Given the description of an element on the screen output the (x, y) to click on. 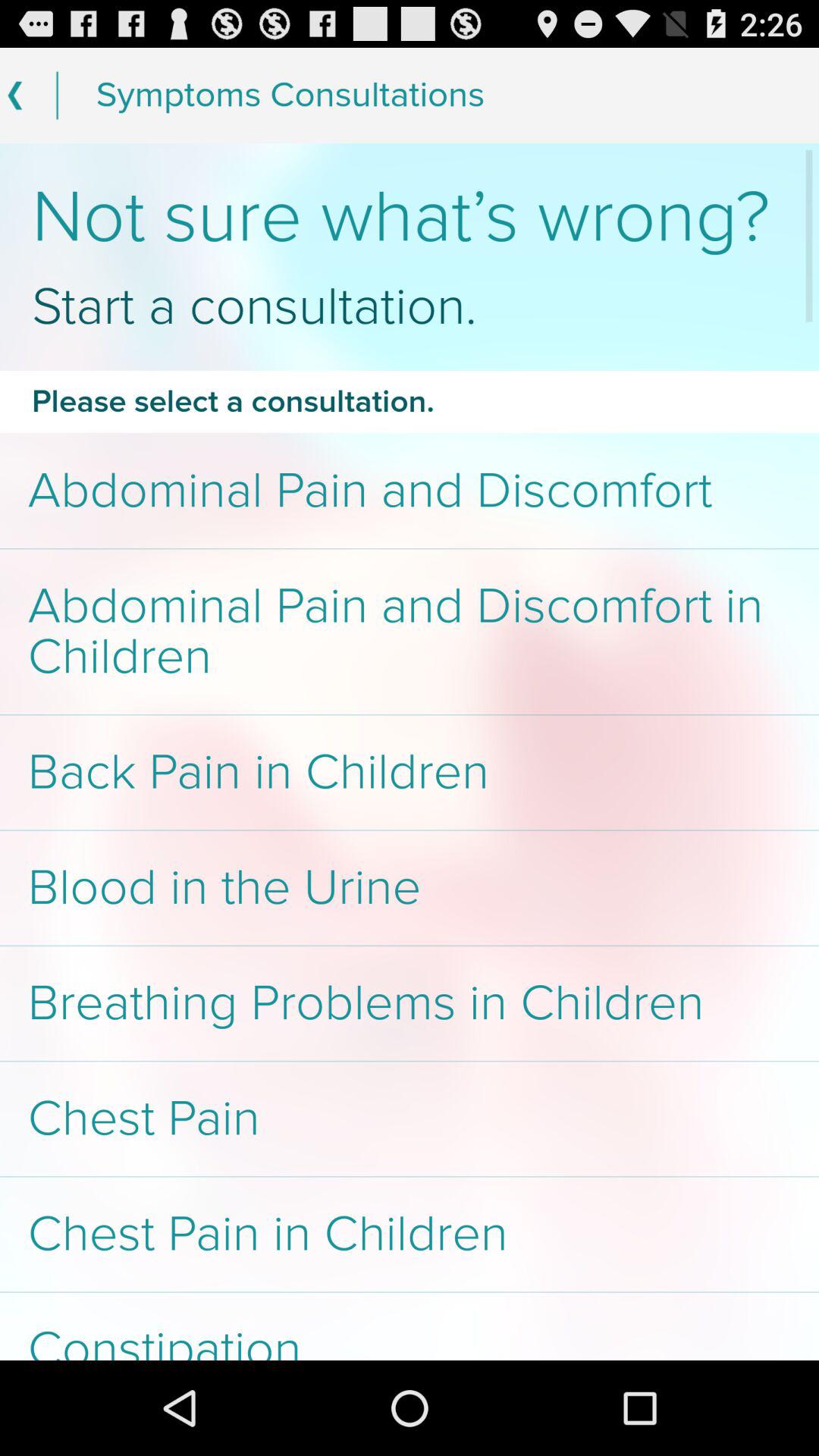
open the icon below the blood in the icon (409, 1003)
